Given the description of an element on the screen output the (x, y) to click on. 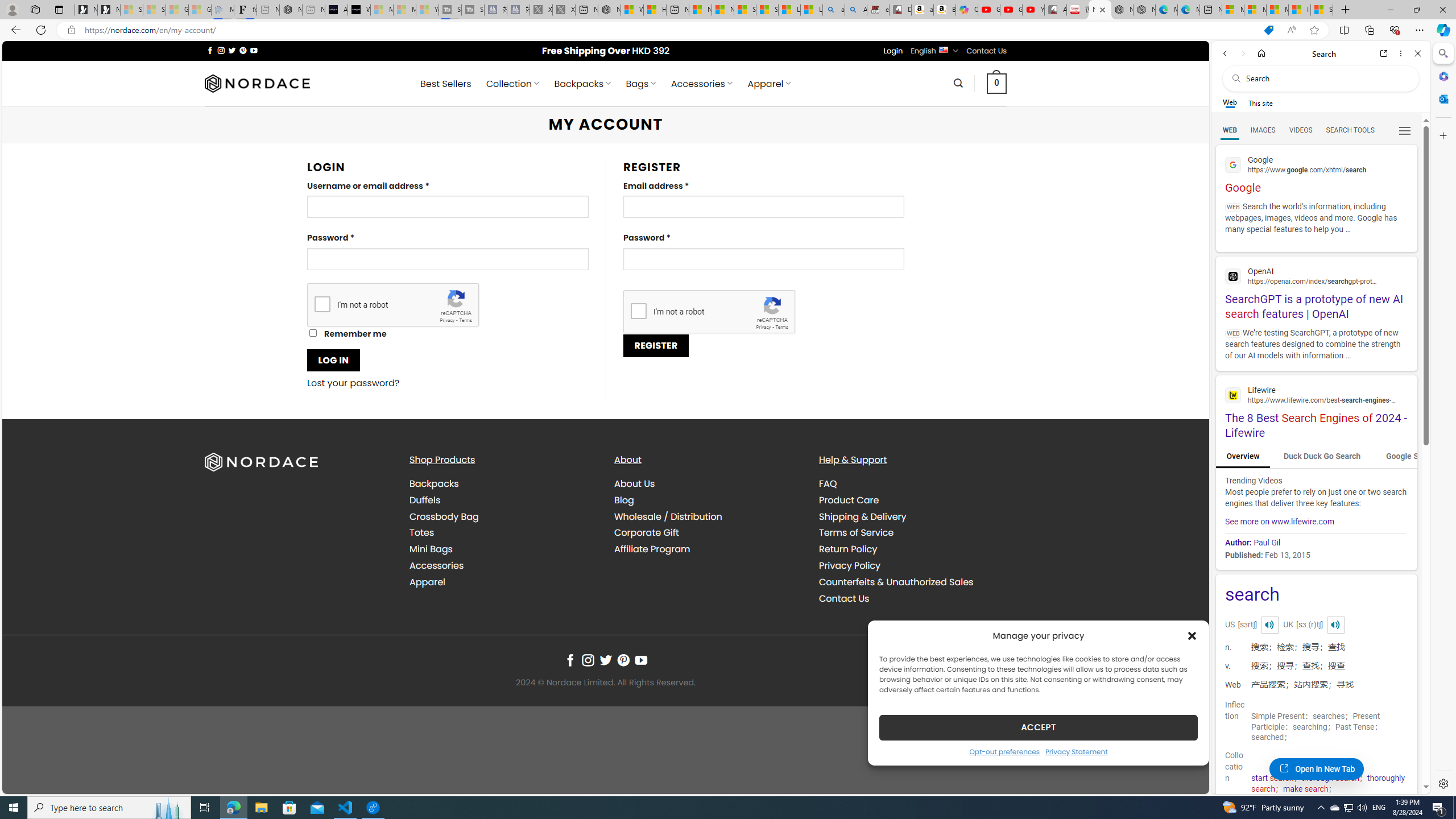
Affiliate Program (652, 549)
Blog (624, 499)
start search (1272, 777)
Follow on Instagram (588, 659)
AI Voice Changer for PC and Mac - Voice.ai (336, 9)
Gloom - YouTube (1010, 9)
More options (1401, 53)
Side bar (1443, 418)
Blog (708, 499)
Corporate Gift (646, 532)
I'm not a robot (638, 310)
REGISTER (655, 345)
Opt-out preferences (1004, 750)
